Given the description of an element on the screen output the (x, y) to click on. 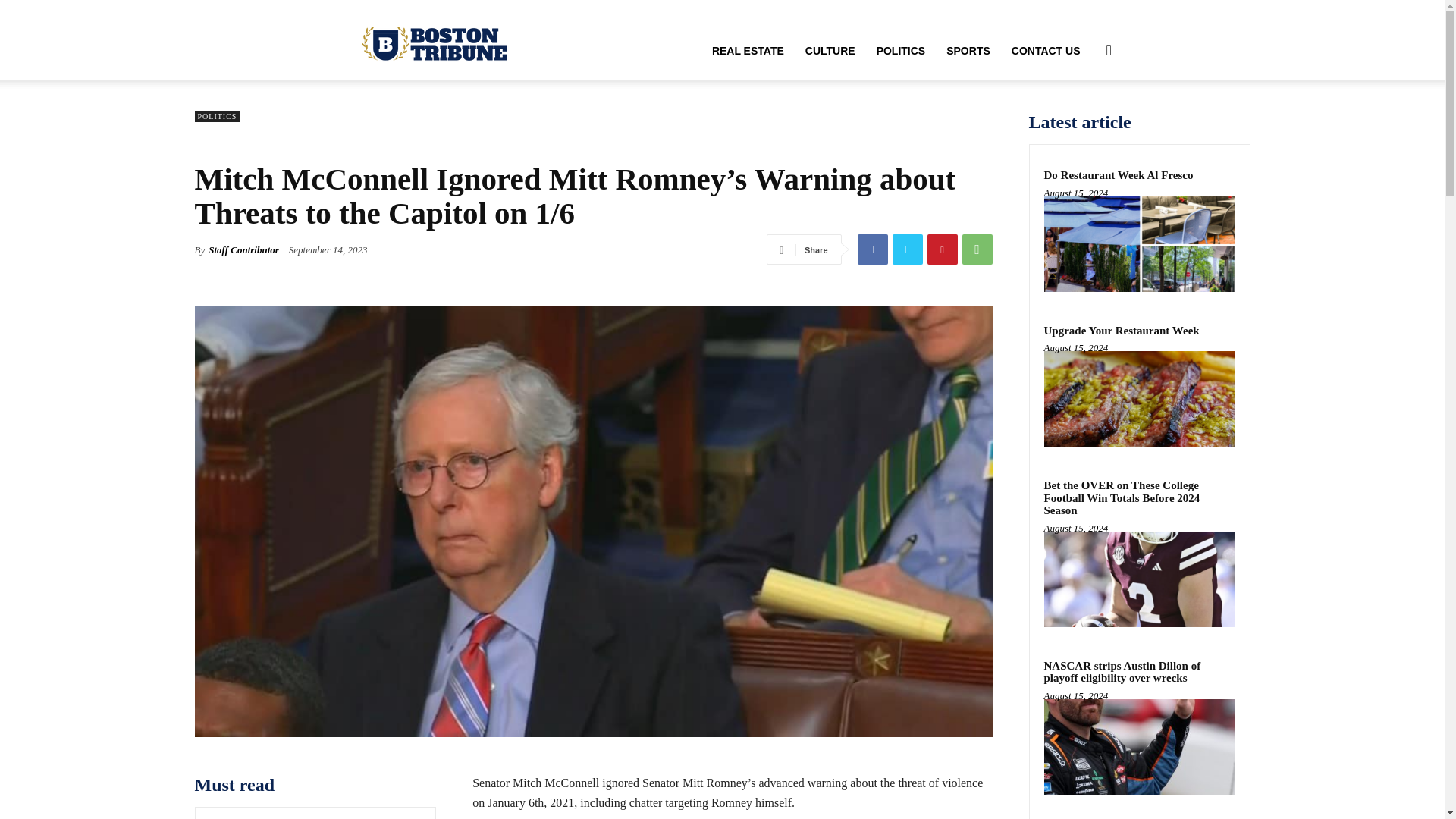
CULTURE (830, 50)
Facebook (871, 249)
Twitter (906, 249)
Search (1085, 122)
Staff Contributor (243, 249)
POLITICS (901, 50)
REAL ESTATE (747, 50)
SPORTS (968, 50)
CONTACT US (1045, 50)
POLITICS (216, 116)
